Given the description of an element on the screen output the (x, y) to click on. 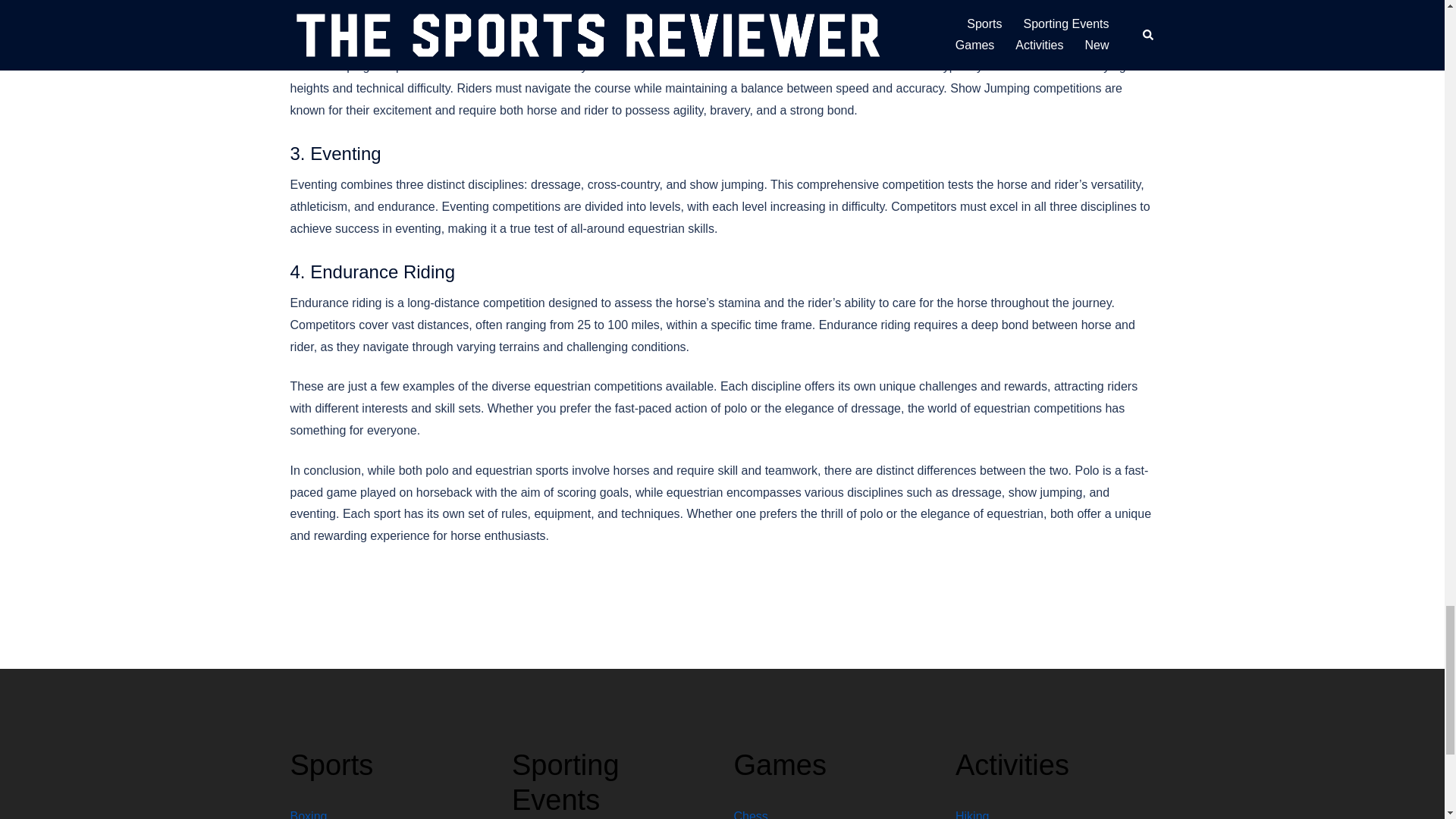
Hiking (971, 814)
Chess (750, 814)
Boxing (307, 814)
